Given the description of an element on the screen output the (x, y) to click on. 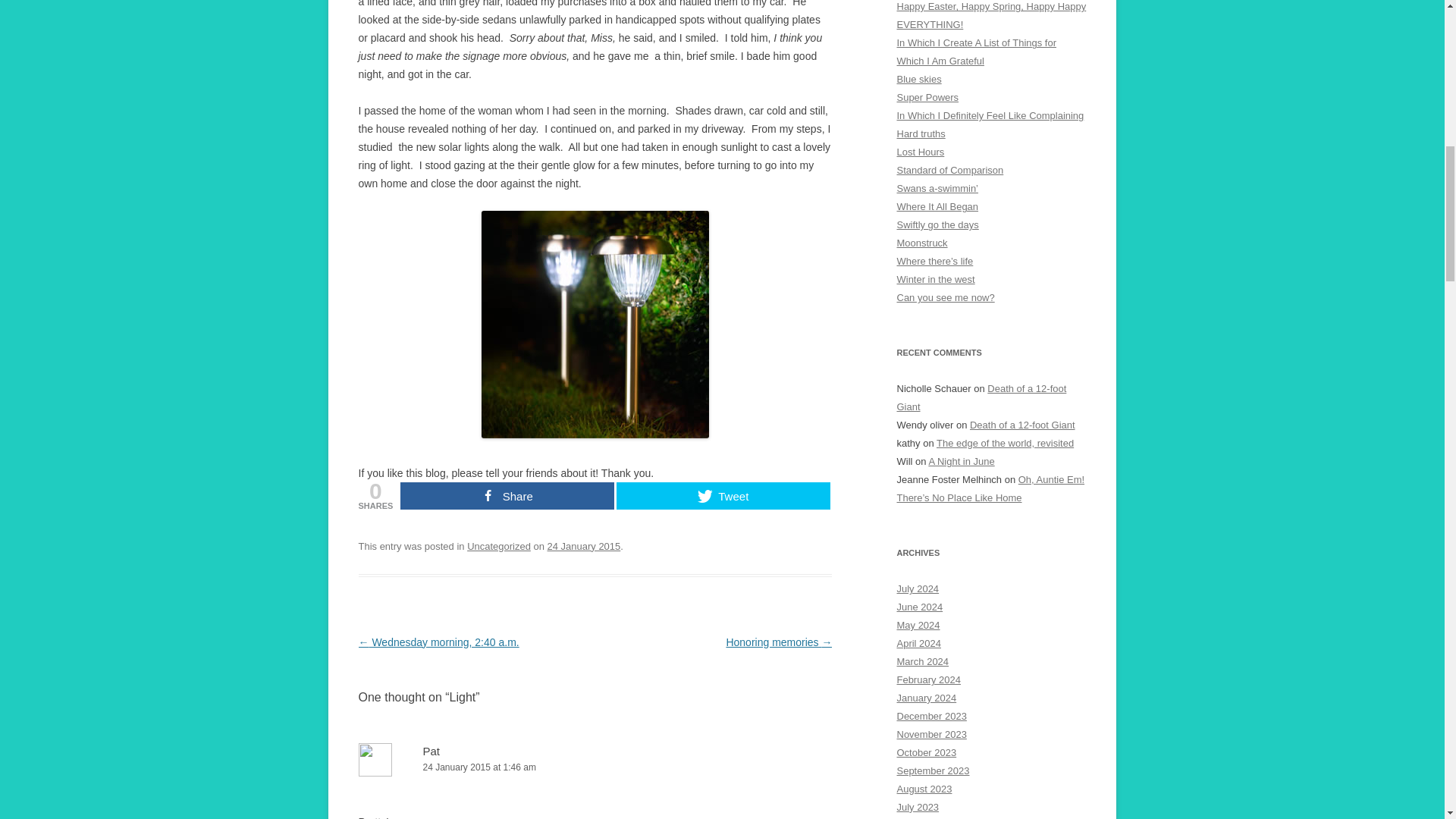
Tweet (722, 495)
Uncategorized (499, 546)
24 January 2015 (584, 546)
Share (507, 495)
1:39 am (584, 546)
24 January 2015 at 1:46 am (594, 767)
